Given the description of an element on the screen output the (x, y) to click on. 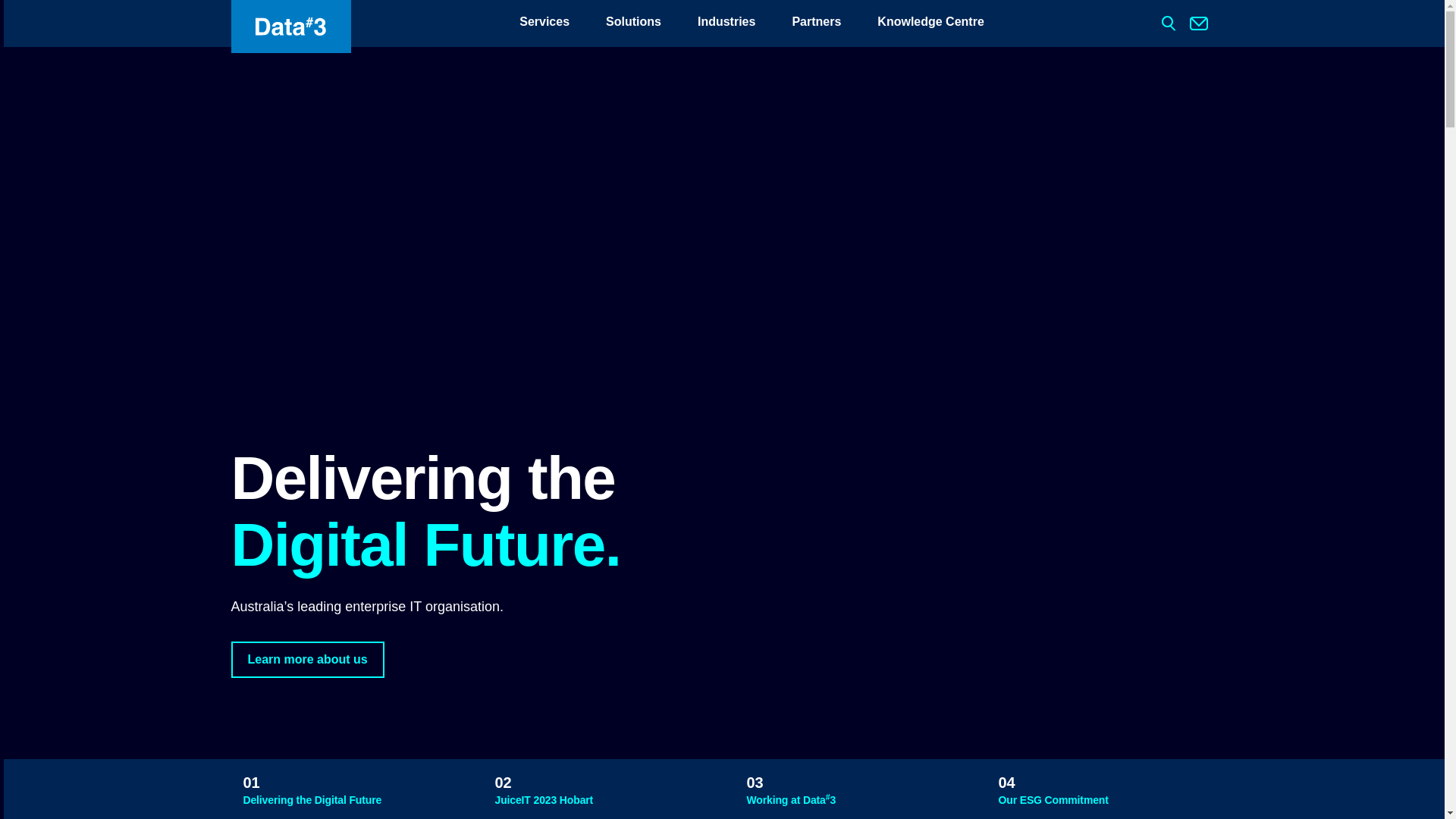
Partners Element type: text (816, 23)
Industries Element type: text (726, 23)
Solutions Element type: text (633, 23)
Services Element type: text (544, 23)
Search Element type: text (27, 10)
Learn more about us Element type: text (306, 659)
Knowledge Centre Element type: text (930, 23)
